Given the description of an element on the screen output the (x, y) to click on. 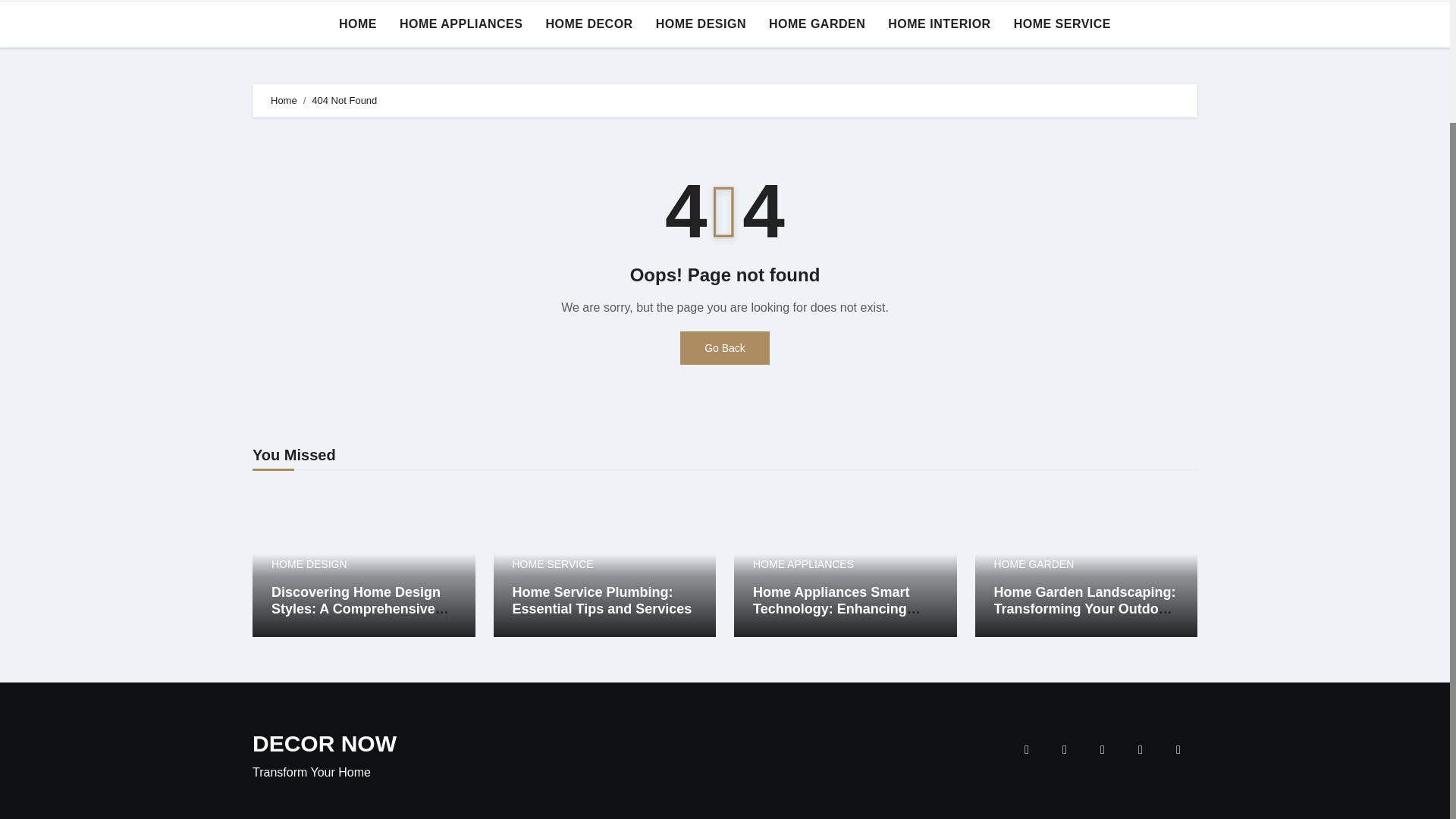
HOME DESIGN (701, 23)
Home Service Plumbing: Essential Tips and Services (602, 600)
HOME APPLIANCES (461, 23)
Discovering Home Design Styles: A Comprehensive Guide (359, 608)
HOME DESIGN (701, 23)
HOME INTERIOR (938, 23)
HOME DECOR (588, 23)
